Given the description of an element on the screen output the (x, y) to click on. 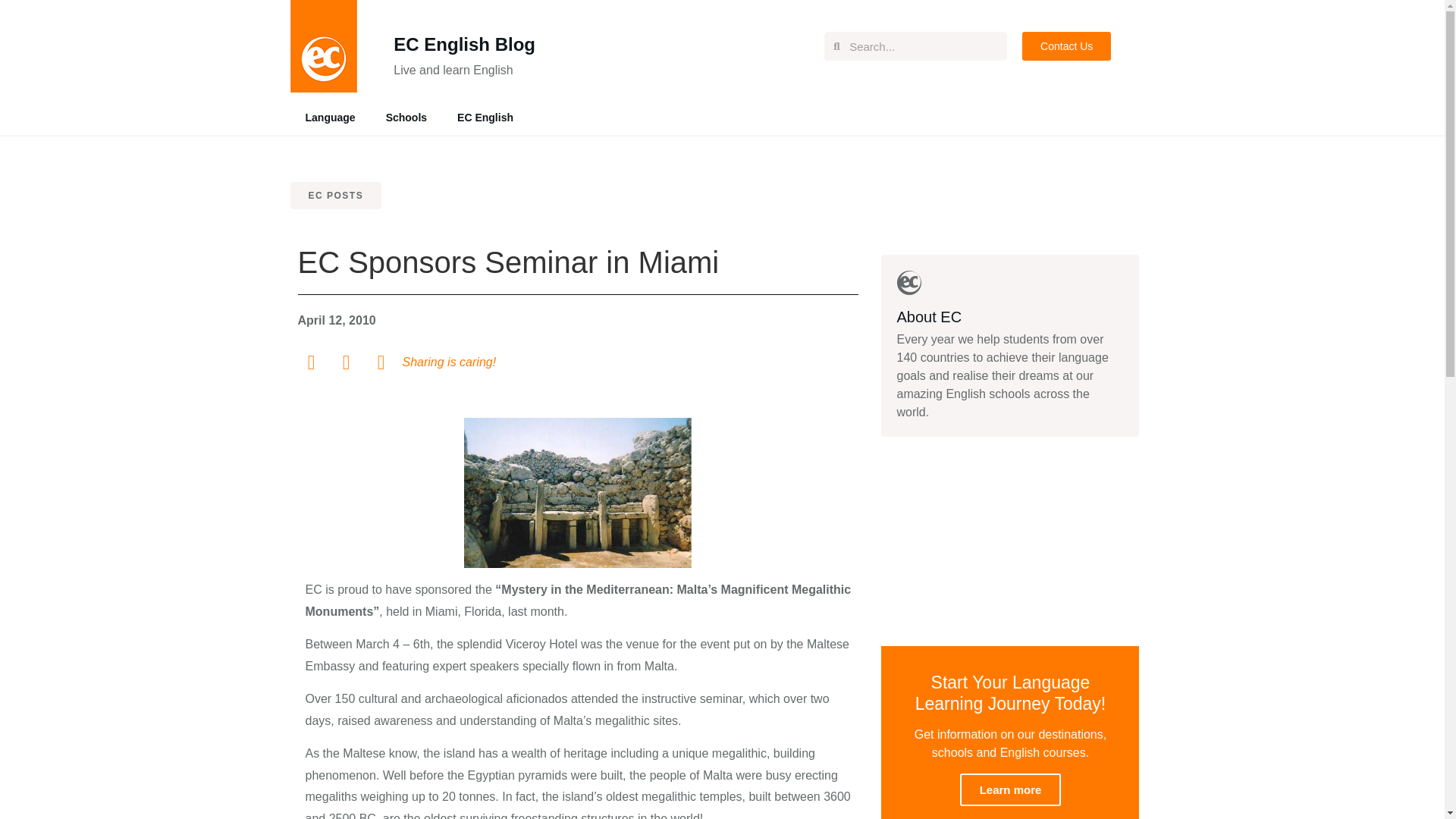
Contact Us (1066, 45)
Language (329, 117)
Schools (406, 117)
EC English (485, 117)
